Given the description of an element on the screen output the (x, y) to click on. 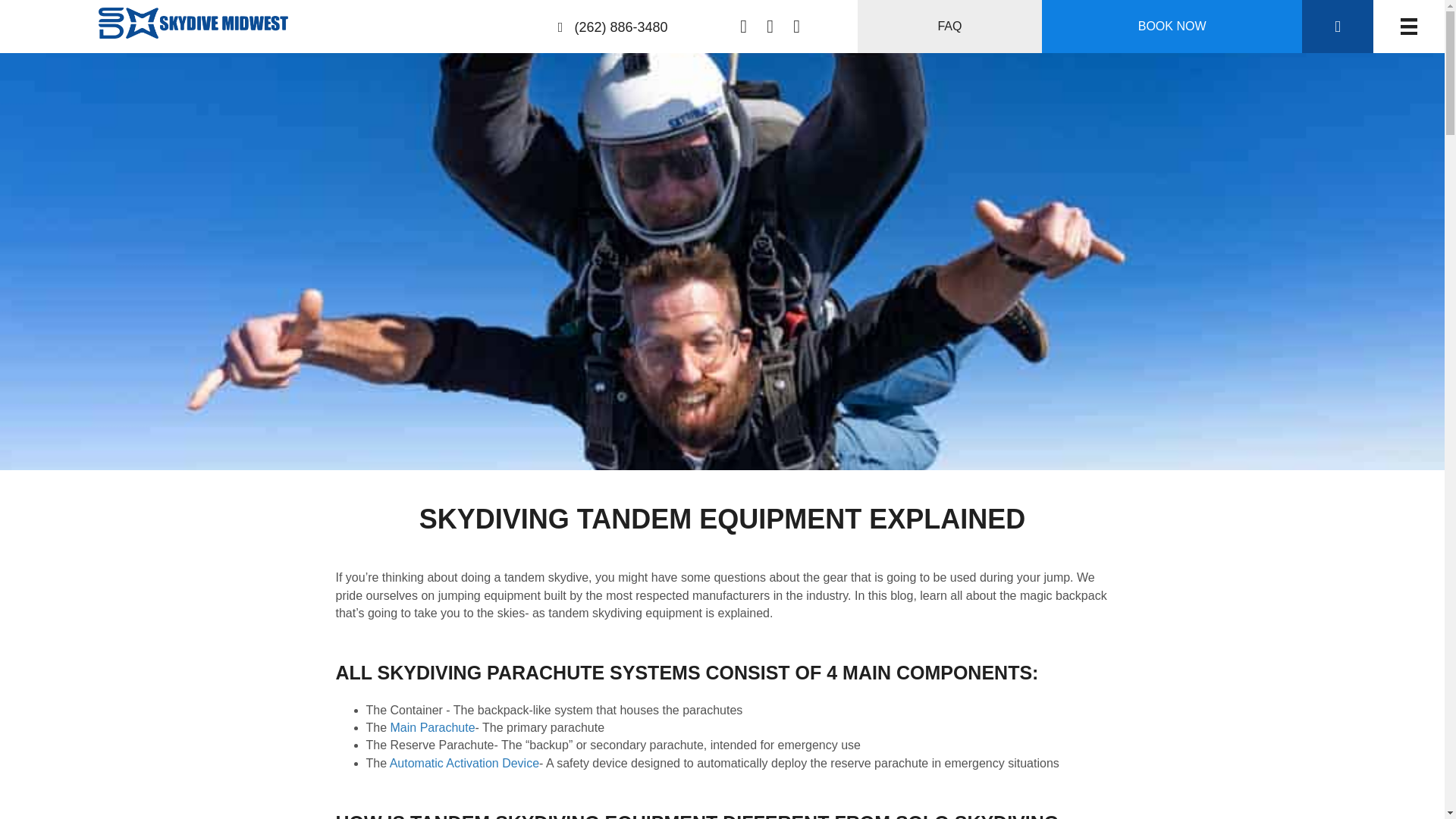
Main Parachute (433, 727)
Automatic Activation Device (464, 762)
FAQ (949, 26)
Skydive Midwest Logo (193, 22)
BOOK NOW (1171, 26)
